Given the description of an element on the screen output the (x, y) to click on. 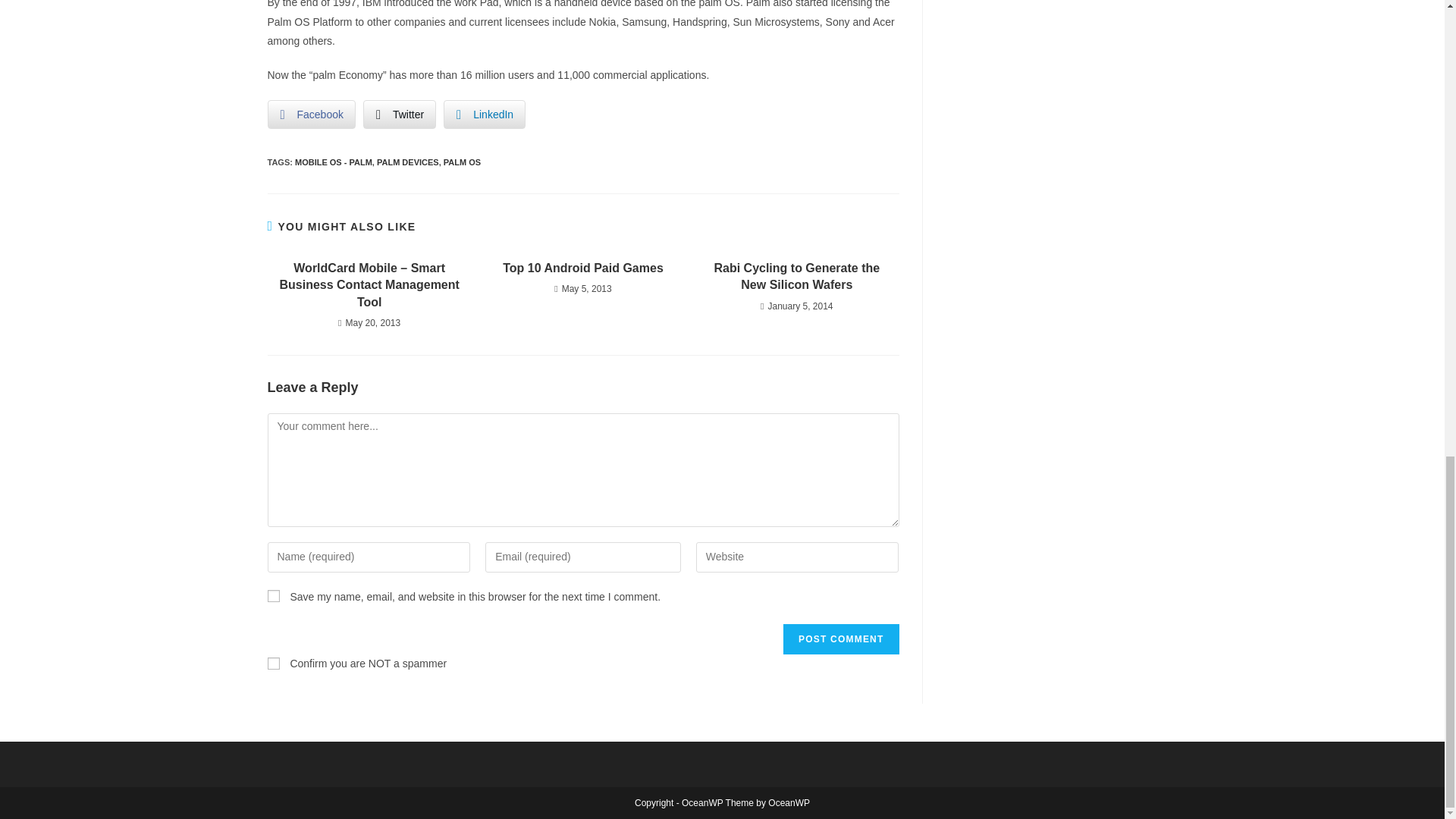
Facebook (310, 113)
Twitter (398, 113)
PALM DEVICES (408, 162)
on (272, 663)
PALM OS (462, 162)
Post Comment (840, 639)
Post Comment (840, 639)
yes (272, 595)
Rabi Cycling to Generate the New Silicon Wafers (796, 277)
LinkedIn (484, 113)
